Given the description of an element on the screen output the (x, y) to click on. 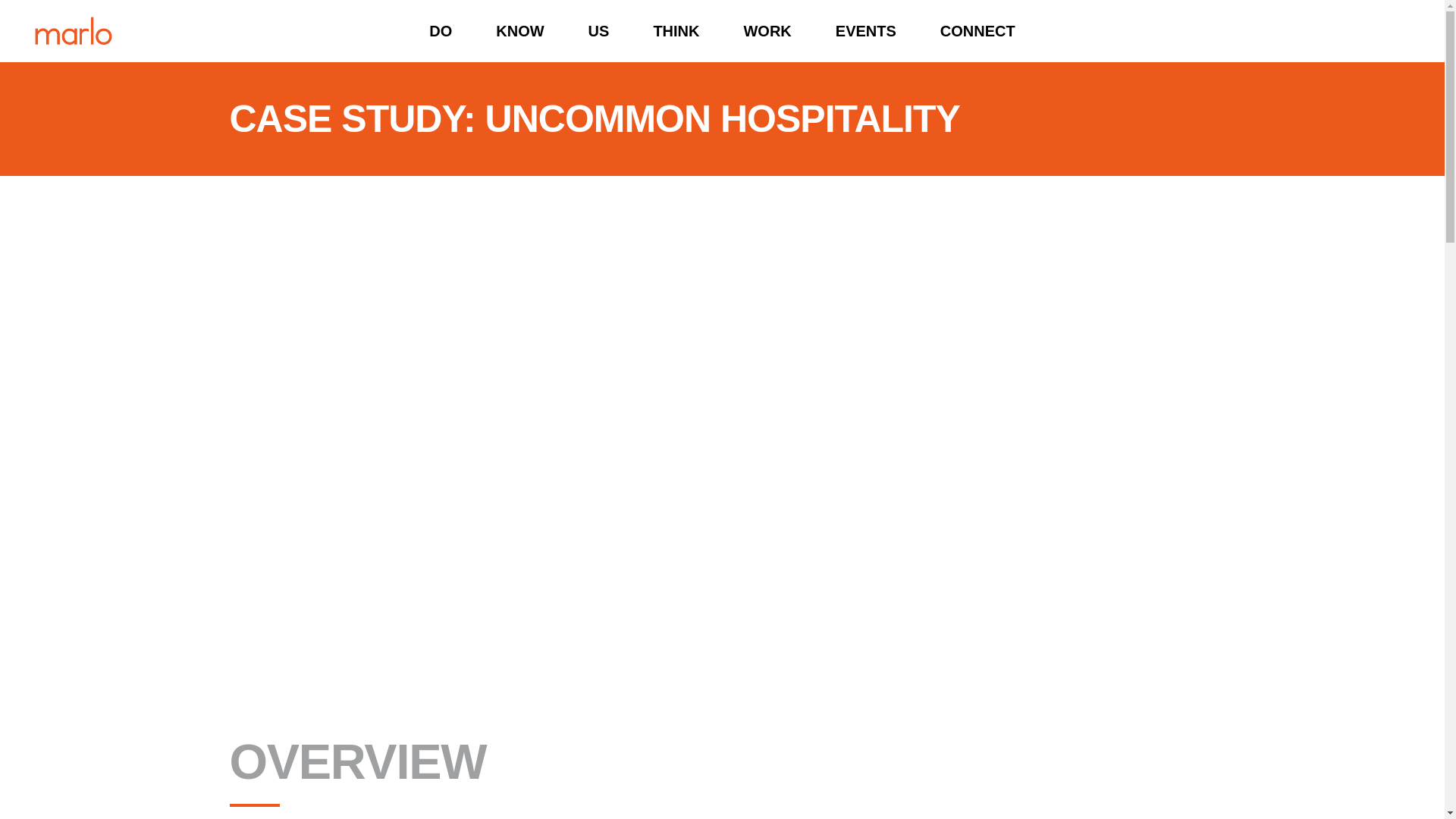
DO (440, 31)
EVENTS (865, 31)
WORK (766, 31)
US (598, 31)
KNOW (520, 31)
CONNECT (977, 31)
THINK (675, 31)
